Given the description of an element on the screen output the (x, y) to click on. 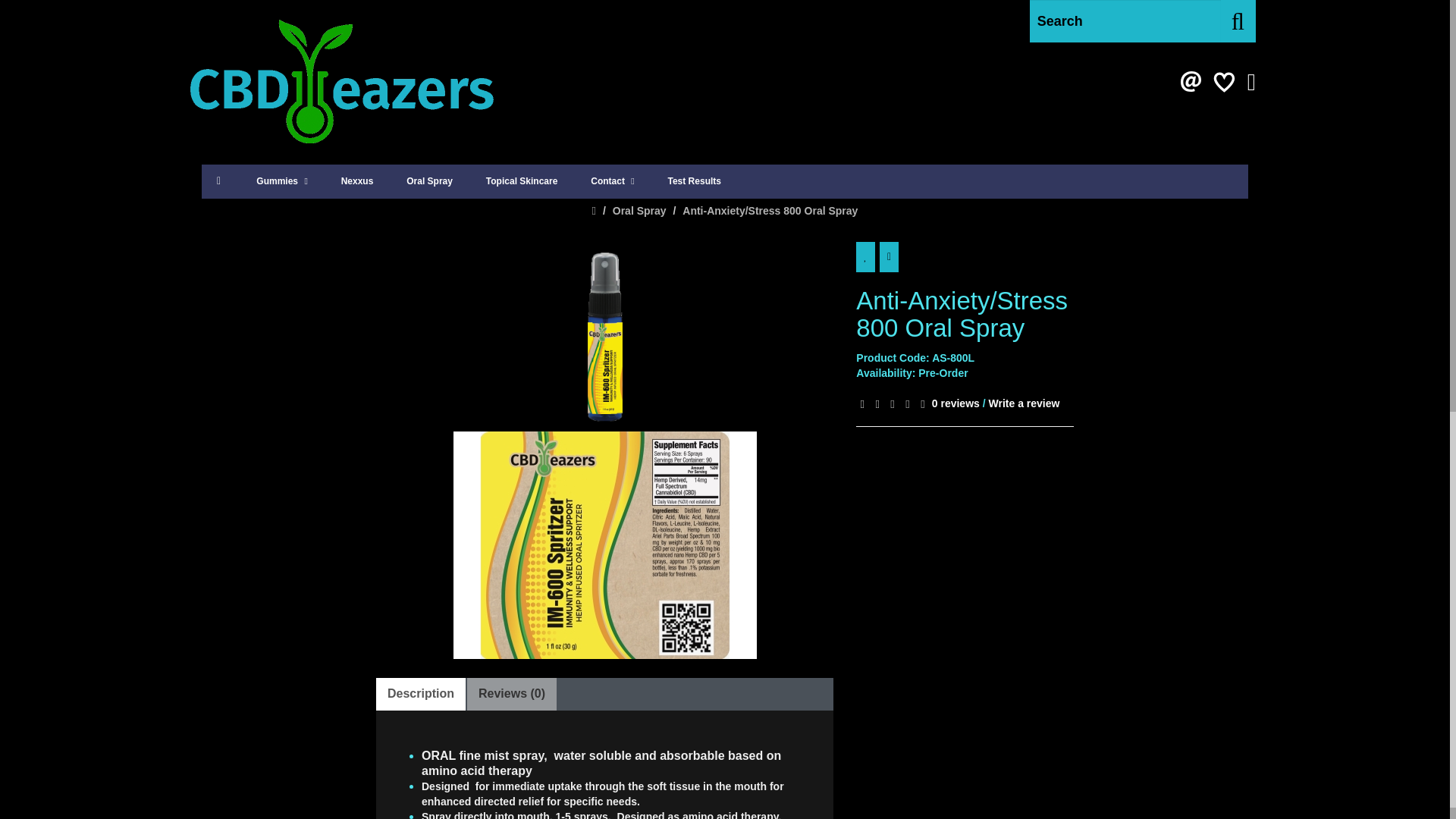
Topical Skincare (521, 181)
My Account (1251, 86)
Nexxus (357, 181)
0 reviews (955, 403)
CBDEazers (341, 82)
Write a review (1023, 403)
Test Results (693, 181)
Description (420, 694)
Gummies (280, 181)
Oral Spray (639, 210)
Oral Spray (429, 181)
Contact (612, 181)
